Given the description of an element on the screen output the (x, y) to click on. 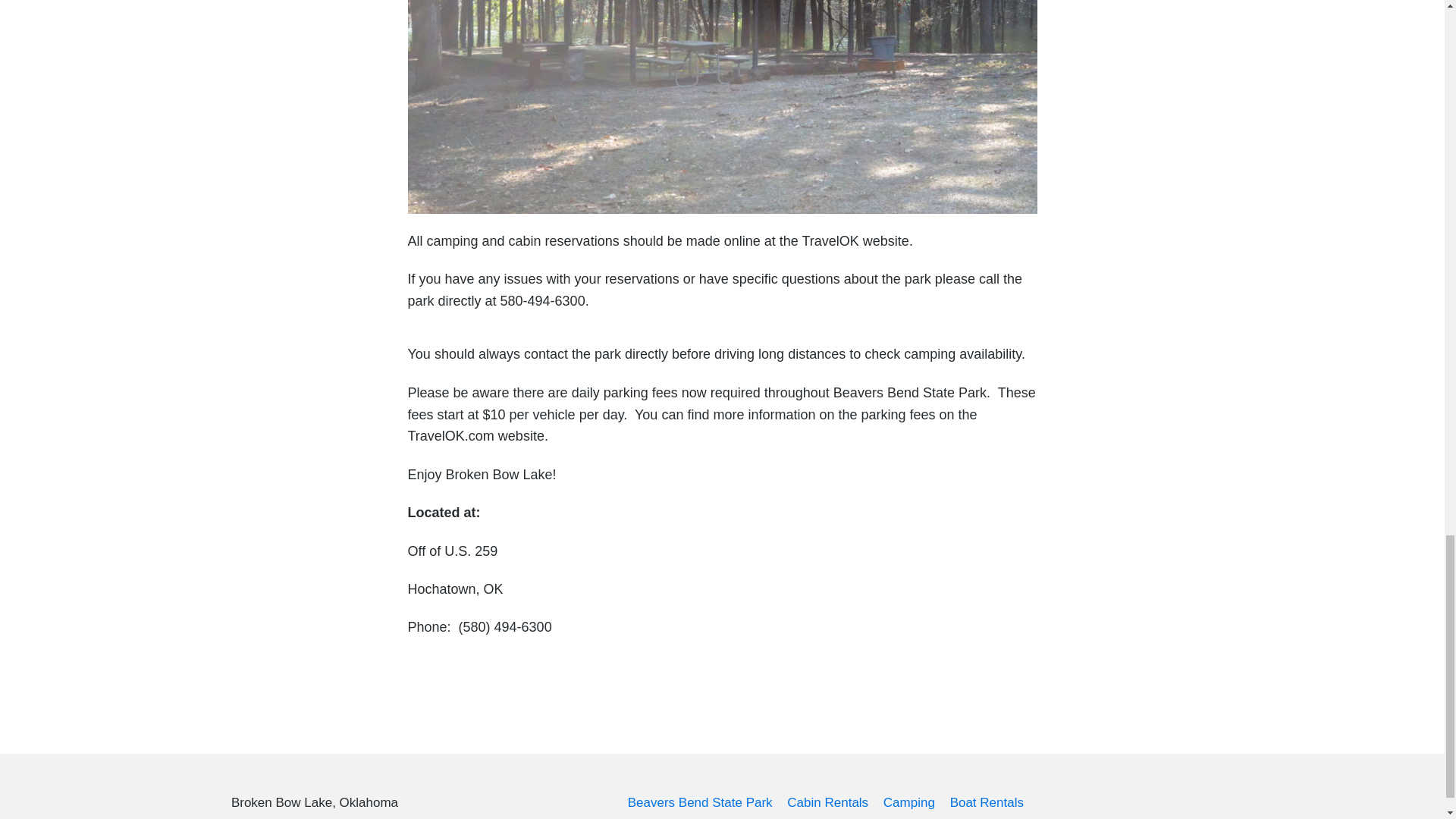
Cabin Rentals (827, 802)
Boat Rentals (986, 802)
Beavers Bend State Park (700, 802)
Camping (908, 802)
